Given the description of an element on the screen output the (x, y) to click on. 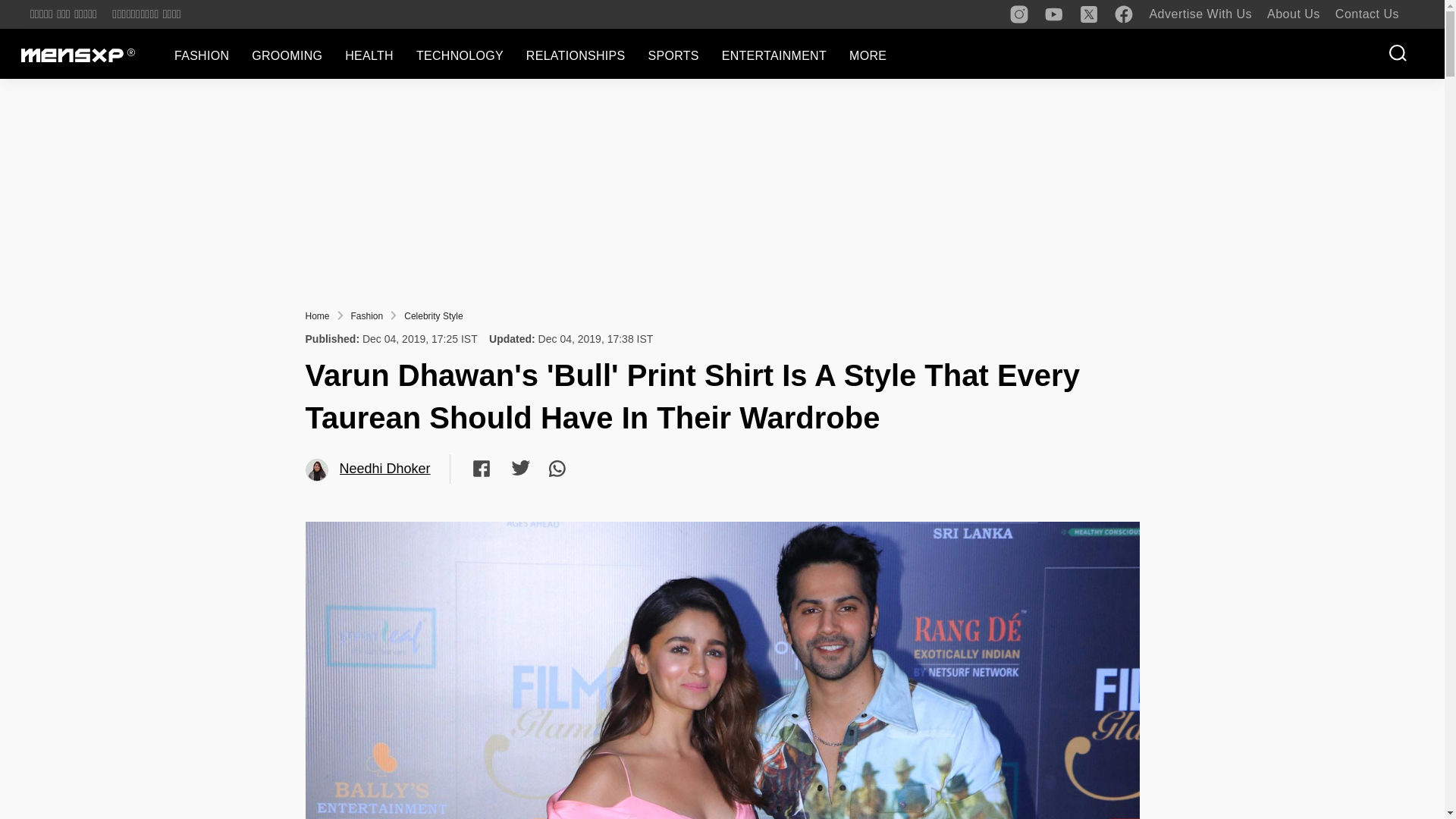
Needhi Dhoker (317, 470)
Contact Us  (1367, 13)
Advertise With Us (1200, 13)
Fashion (367, 316)
Advertise With Us (1200, 13)
Home (316, 316)
About Us (1293, 13)
About Us (1293, 13)
Contact Us (1367, 13)
Celebrity Style (433, 316)
